Given the description of an element on the screen output the (x, y) to click on. 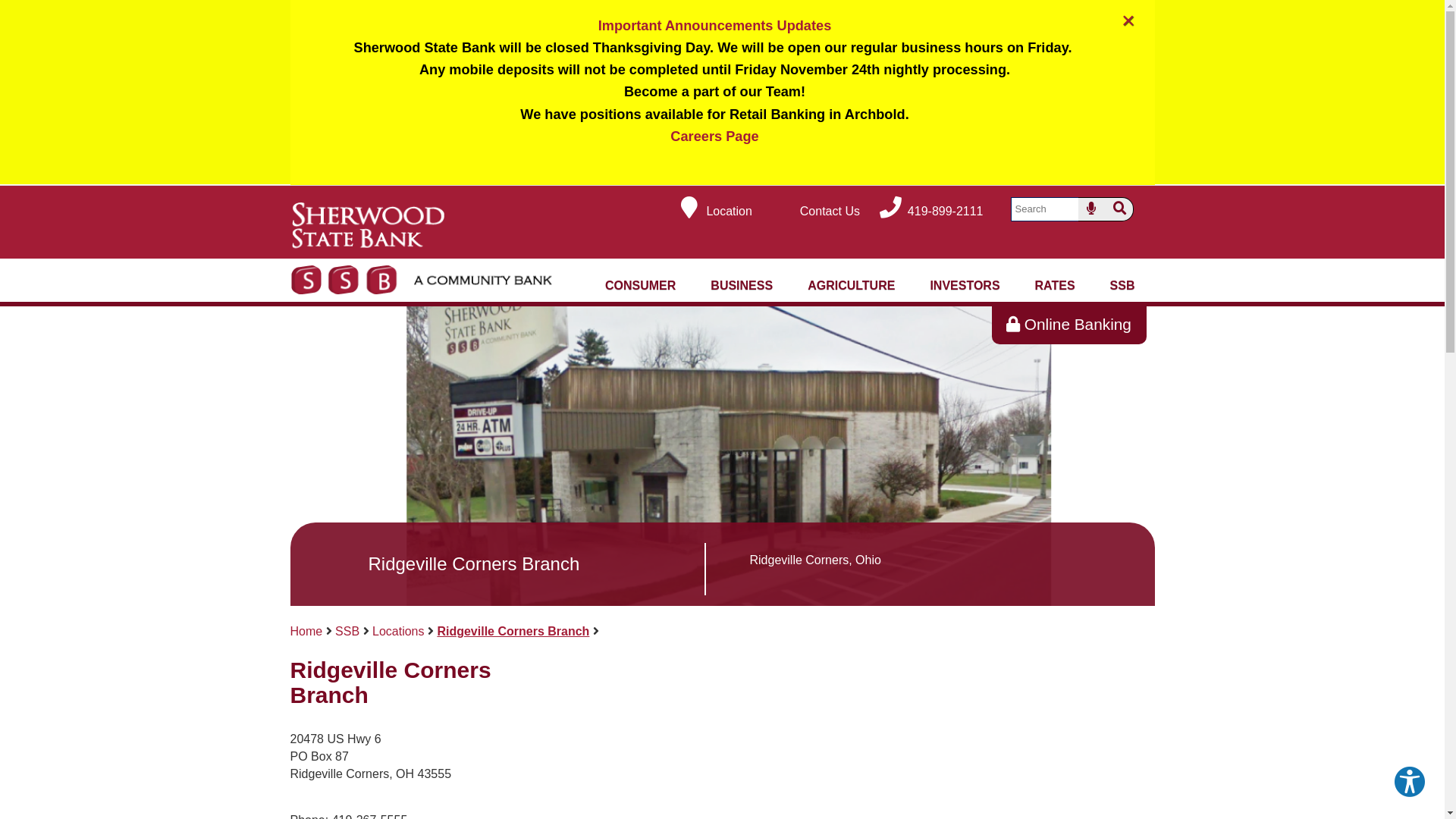
BUSINESS Element type: text (741, 285)
Search Element type: hover (1045, 209)
CONSUMER Element type: text (639, 285)
Sherwood State Bank (Links to Homepage) Element type: hover (422, 253)
SSB Element type: text (347, 630)
Ridgeville Corners Branch Element type: text (512, 630)
Search Element type: hover (1119, 209)
419-899-2111 Element type: text (929, 210)
Careers Page Element type: text (714, 136)
Home Element type: text (305, 630)
Location Element type: text (713, 210)
Locations Element type: text (398, 630)
INVESTORS Element type: text (964, 285)
SSB Element type: text (1122, 285)
Important Announcements Updates Element type: text (714, 25)
Contact Us Element type: text (813, 210)
RATES Element type: text (1054, 285)
AGRICULTURE Element type: text (851, 285)
